Given the description of an element on the screen output the (x, y) to click on. 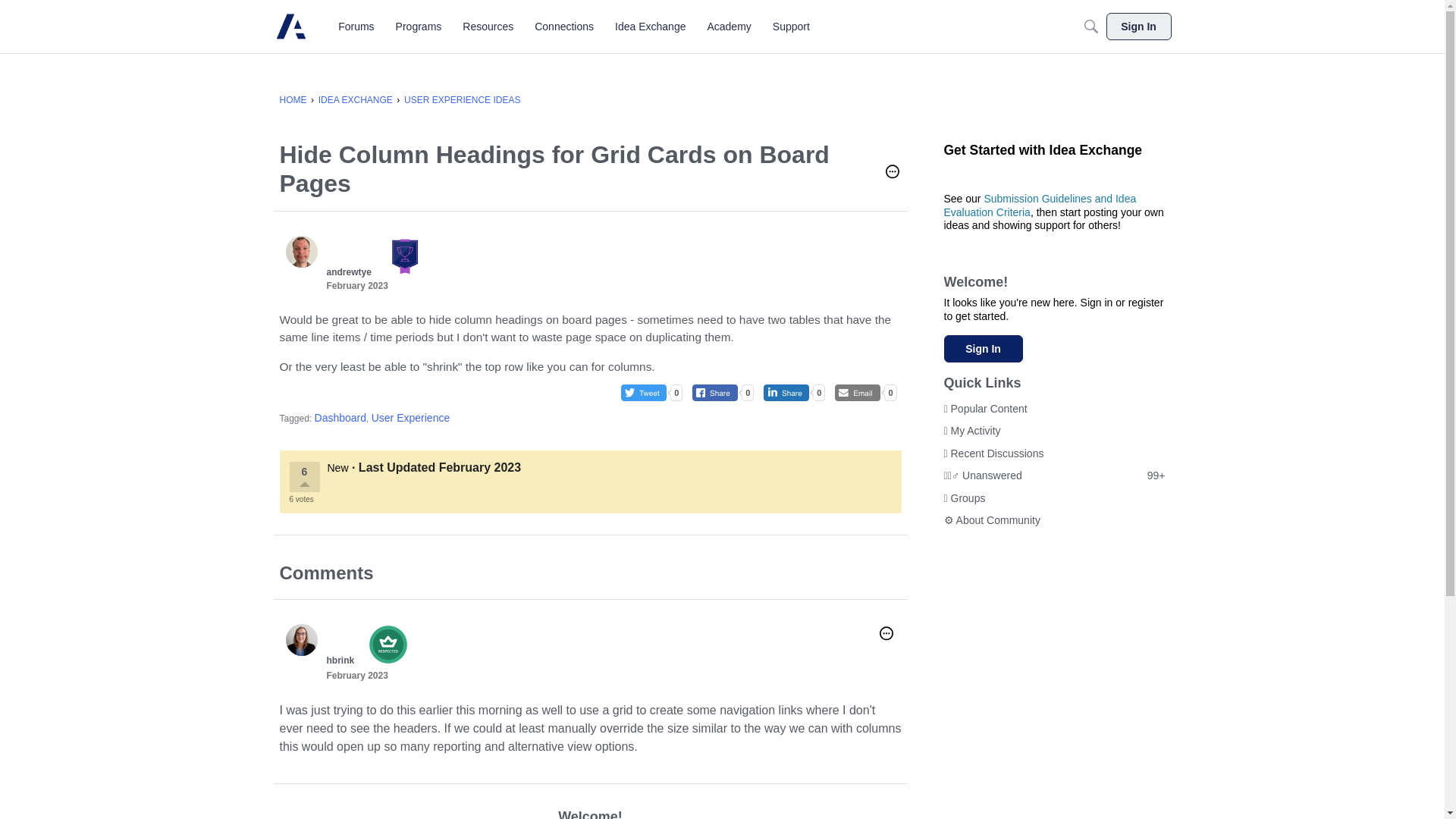
New (338, 467)
andrewtye (301, 251)
Idea Exchange (649, 26)
Search (1090, 26)
USER EXPERIENCE IDEAS (461, 100)
Forums (355, 26)
Up (303, 485)
Certified Master Anaplanner (400, 243)
HOME (292, 100)
andrewtye (348, 271)
February 16, 2023 8:54PM (356, 675)
Support (791, 26)
February 16, 2023 2:32PM (356, 285)
Dashboard (340, 417)
